Given the description of an element on the screen output the (x, y) to click on. 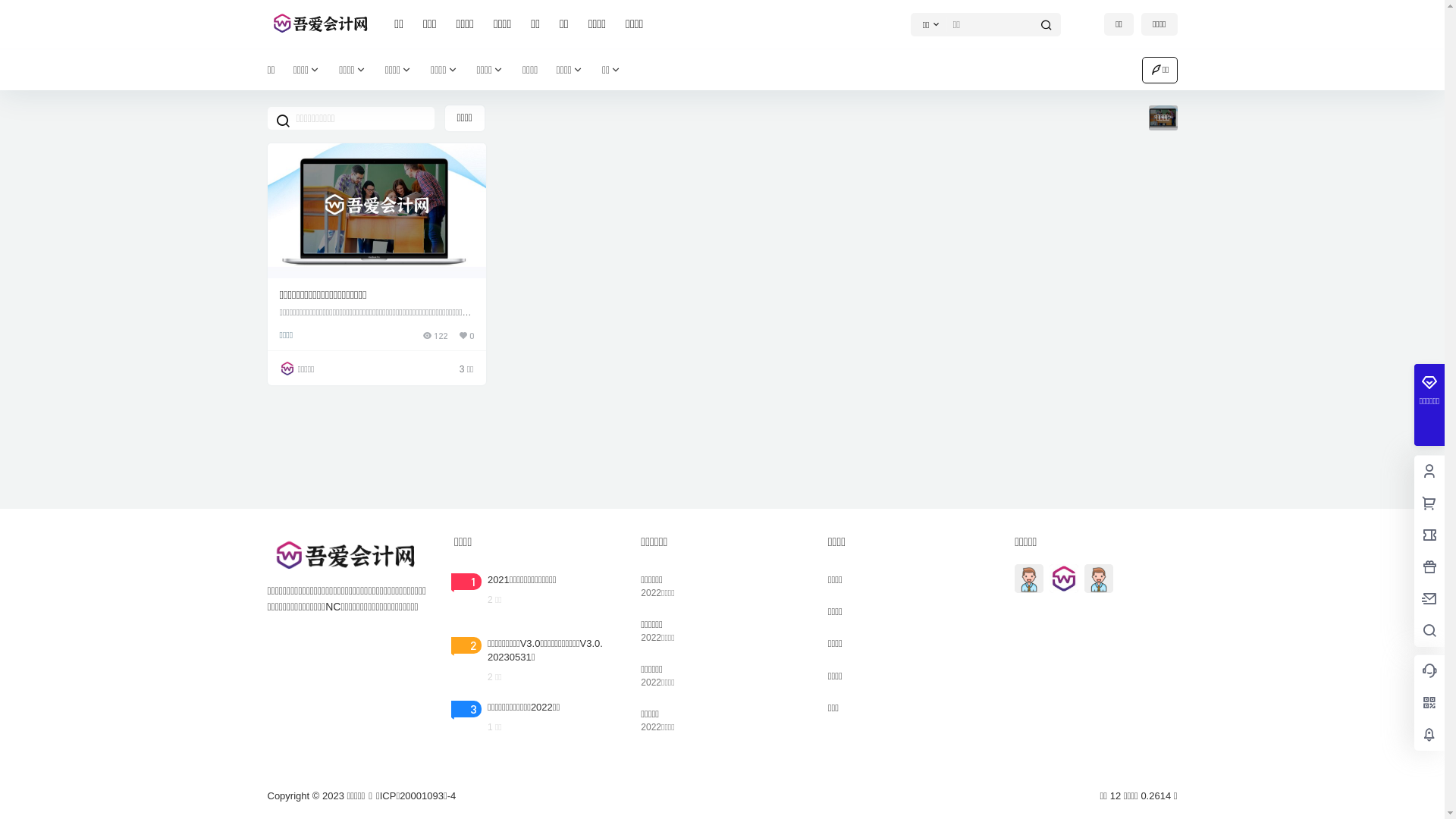
ok Element type: text (10, 10)
